Given the description of an element on the screen output the (x, y) to click on. 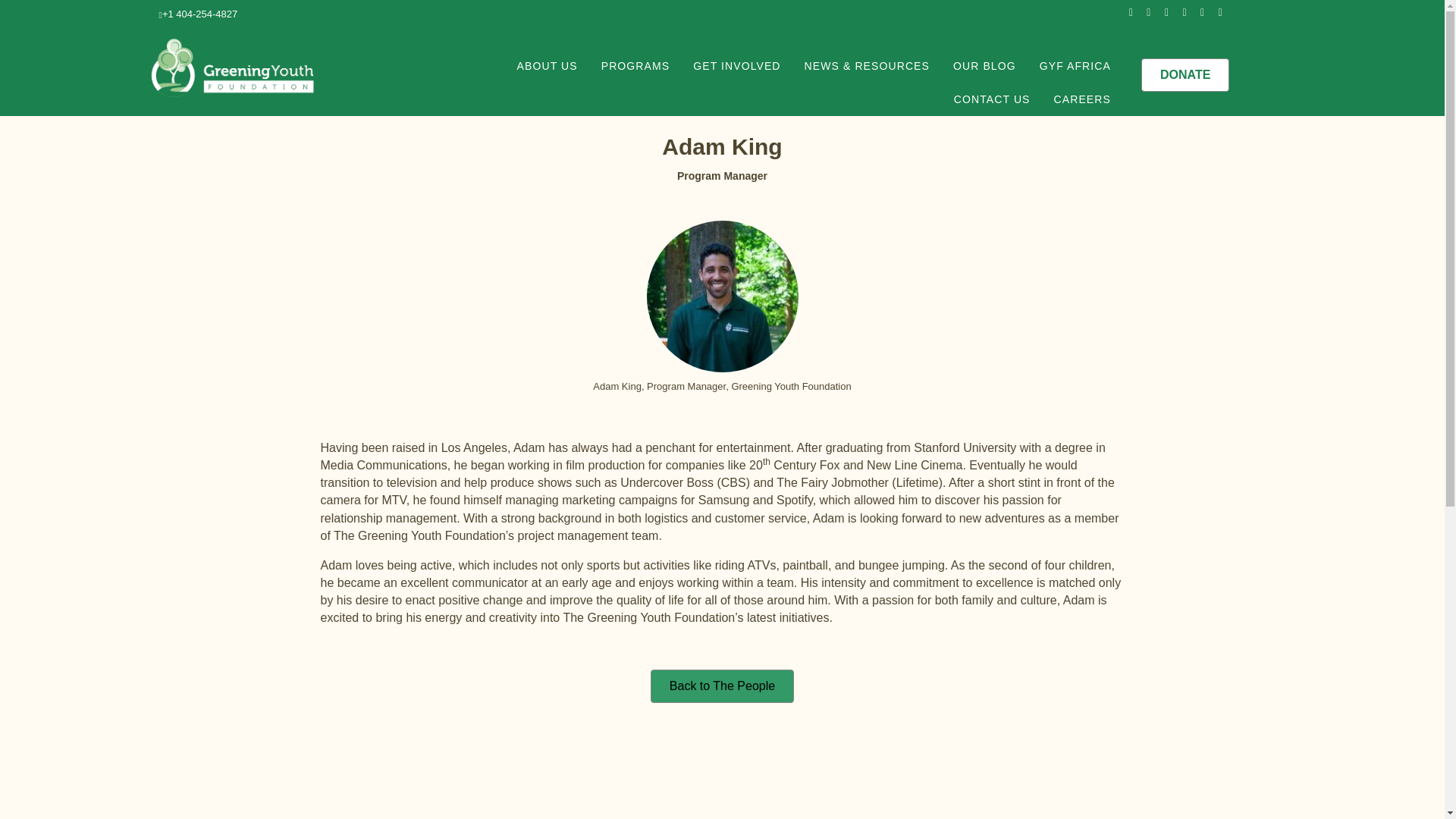
ABOUT US (547, 65)
OUR BLOG (984, 65)
GET INVOLVED (736, 65)
GYF AFRICA (1074, 65)
CAREERS (1082, 99)
PROGRAMS (635, 65)
CONTACT US (992, 99)
Adam King Program Manager (721, 296)
DONATE (1184, 74)
Back to The People (721, 685)
